Given the description of an element on the screen output the (x, y) to click on. 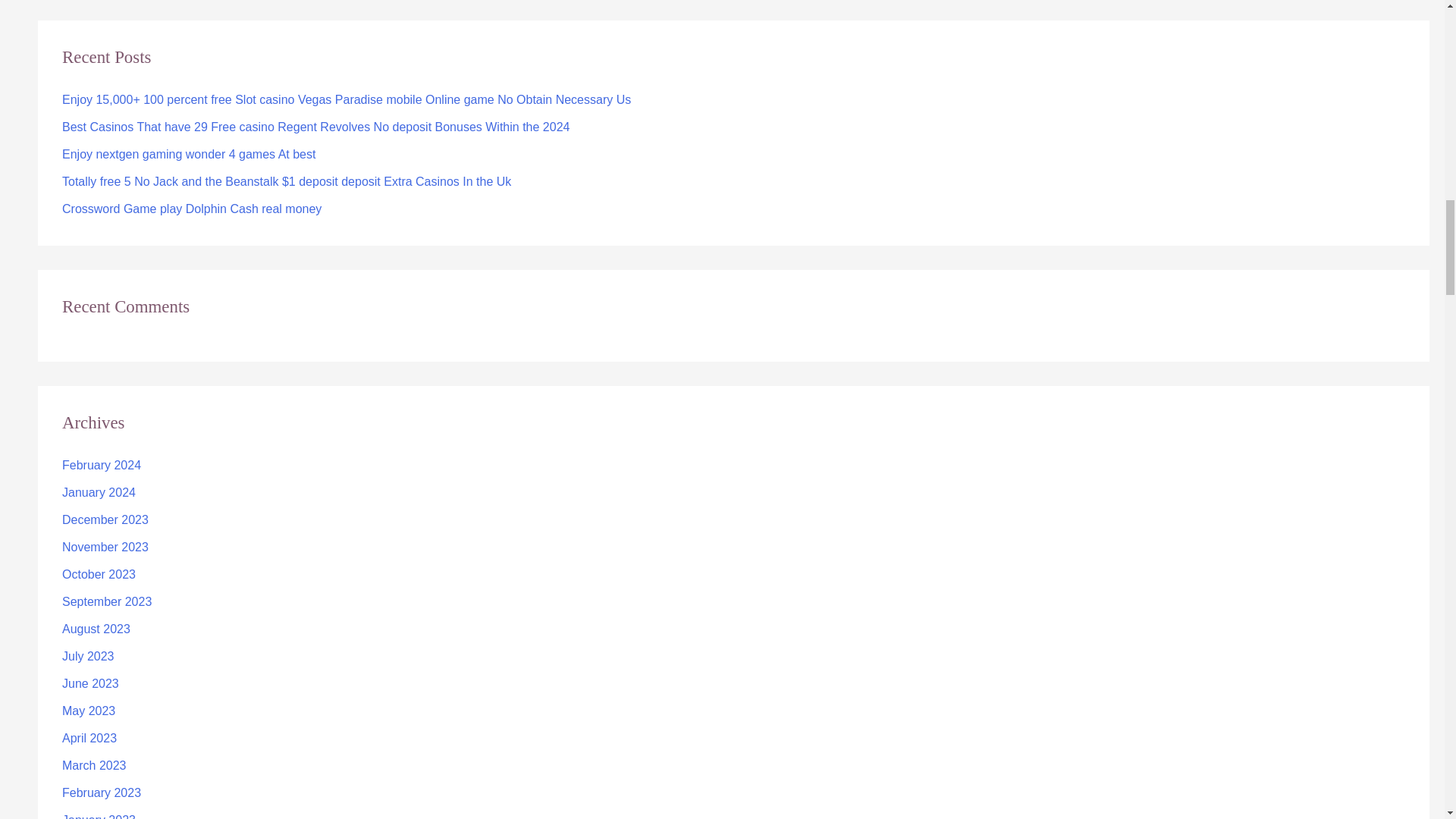
February 2024 (101, 464)
January 2024 (98, 492)
December 2023 (105, 519)
Crossword Game play Dolphin Cash real money (191, 208)
Enjoy nextgen gaming wonder 4 games At best (188, 154)
